Given the description of an element on the screen output the (x, y) to click on. 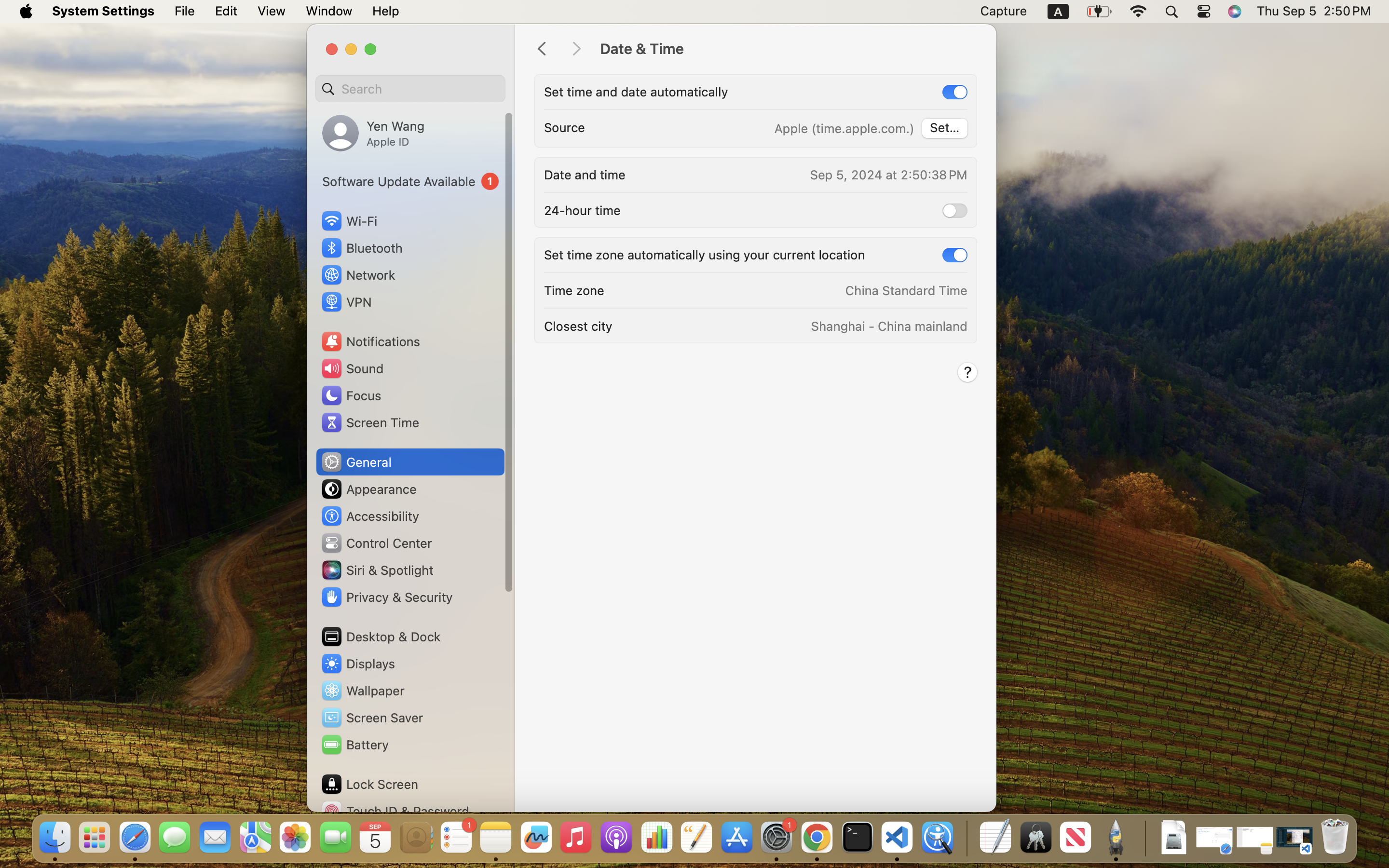
Bluetooth Element type: AXStaticText (361, 247)
Notifications Element type: AXStaticText (370, 340)
Wi‑Fi Element type: AXStaticText (348, 220)
Screen Time Element type: AXStaticText (369, 422)
Network Element type: AXStaticText (357, 274)
